Given the description of an element on the screen output the (x, y) to click on. 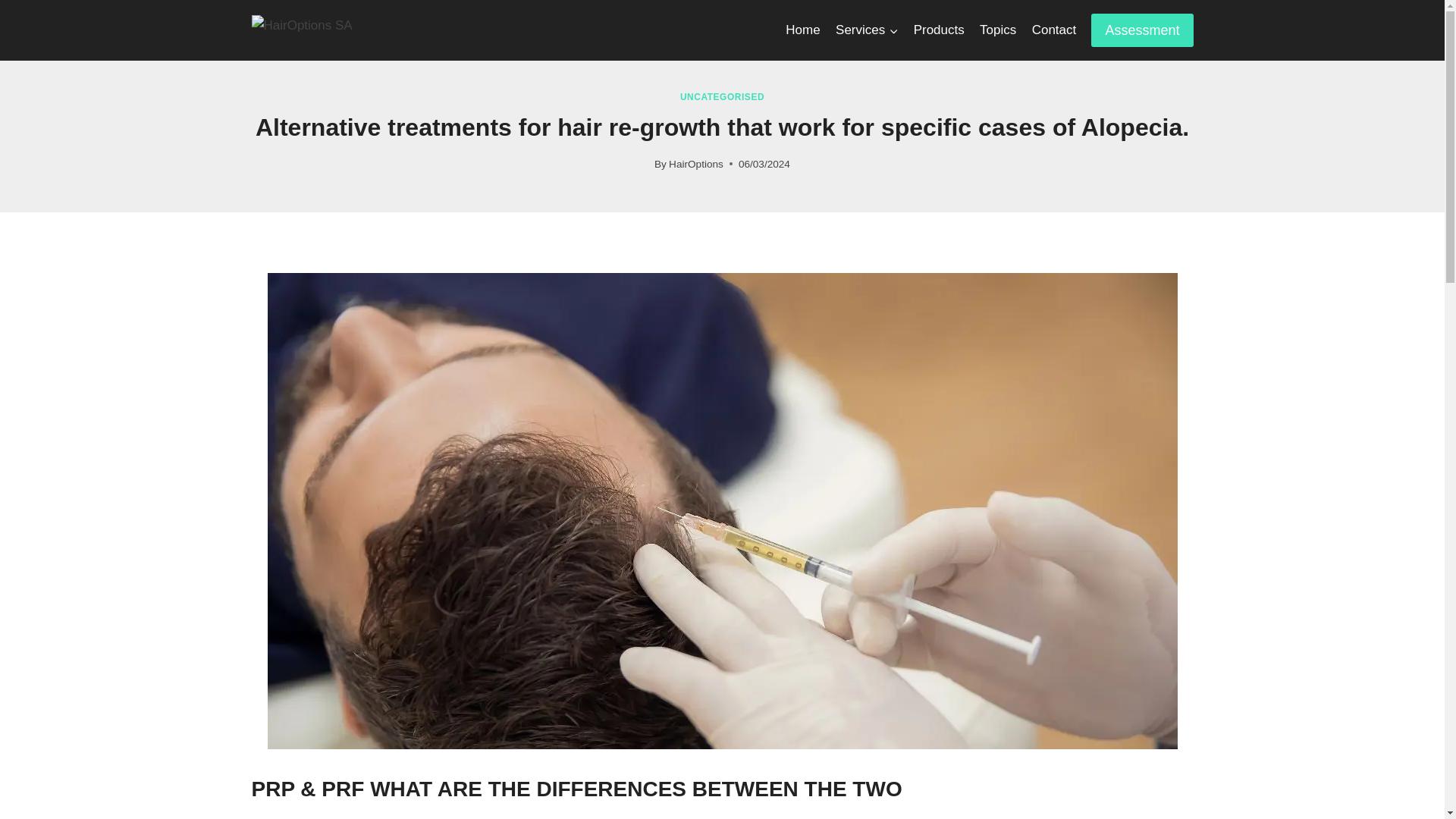
Services (866, 30)
Assessment (1141, 29)
Contact (1053, 30)
HairOptions (695, 163)
Products (938, 30)
Topics (998, 30)
UNCATEGORISED (721, 96)
Home (802, 30)
